Given the description of an element on the screen output the (x, y) to click on. 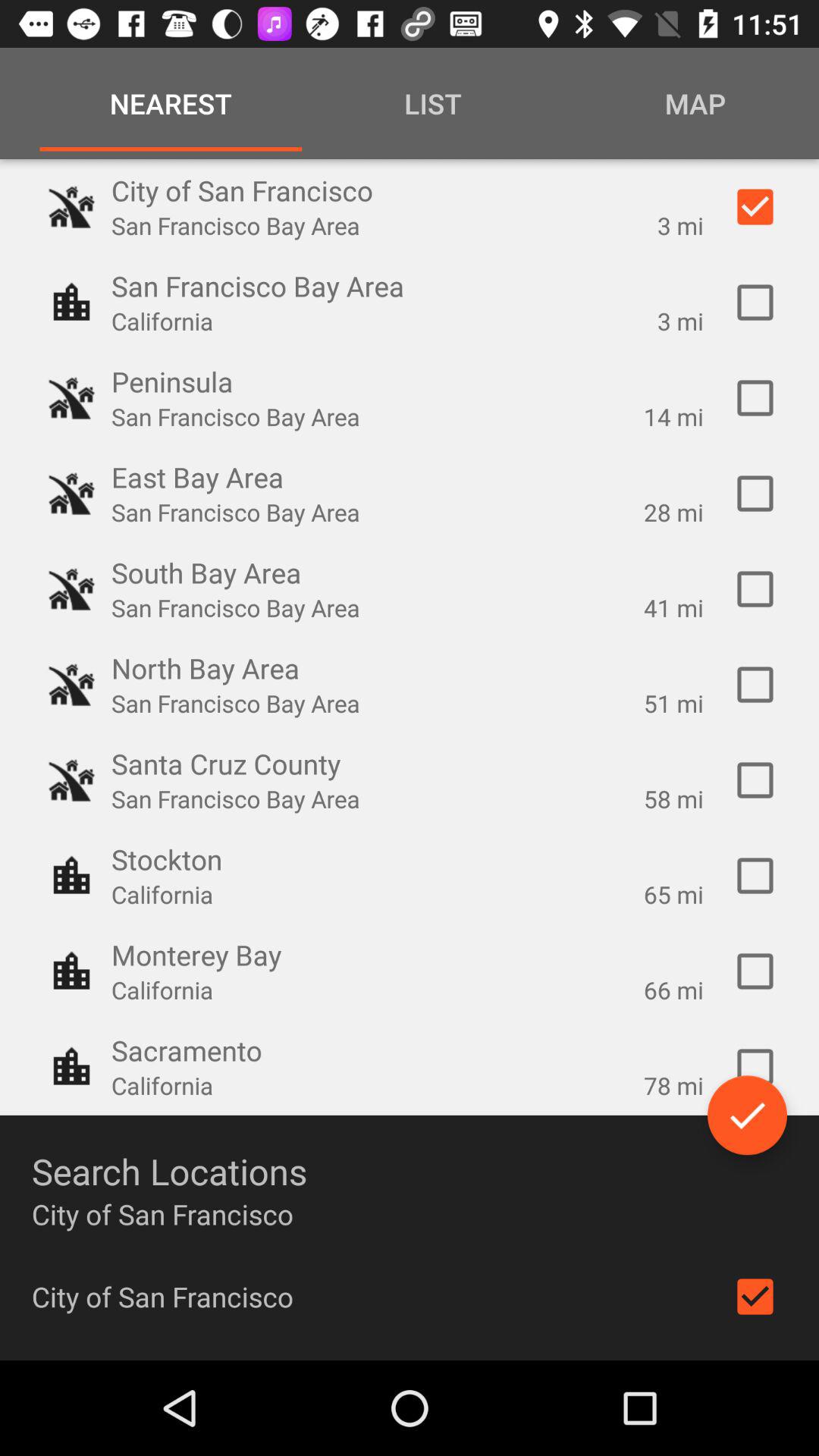
tick location to search (755, 589)
